Given the description of an element on the screen output the (x, y) to click on. 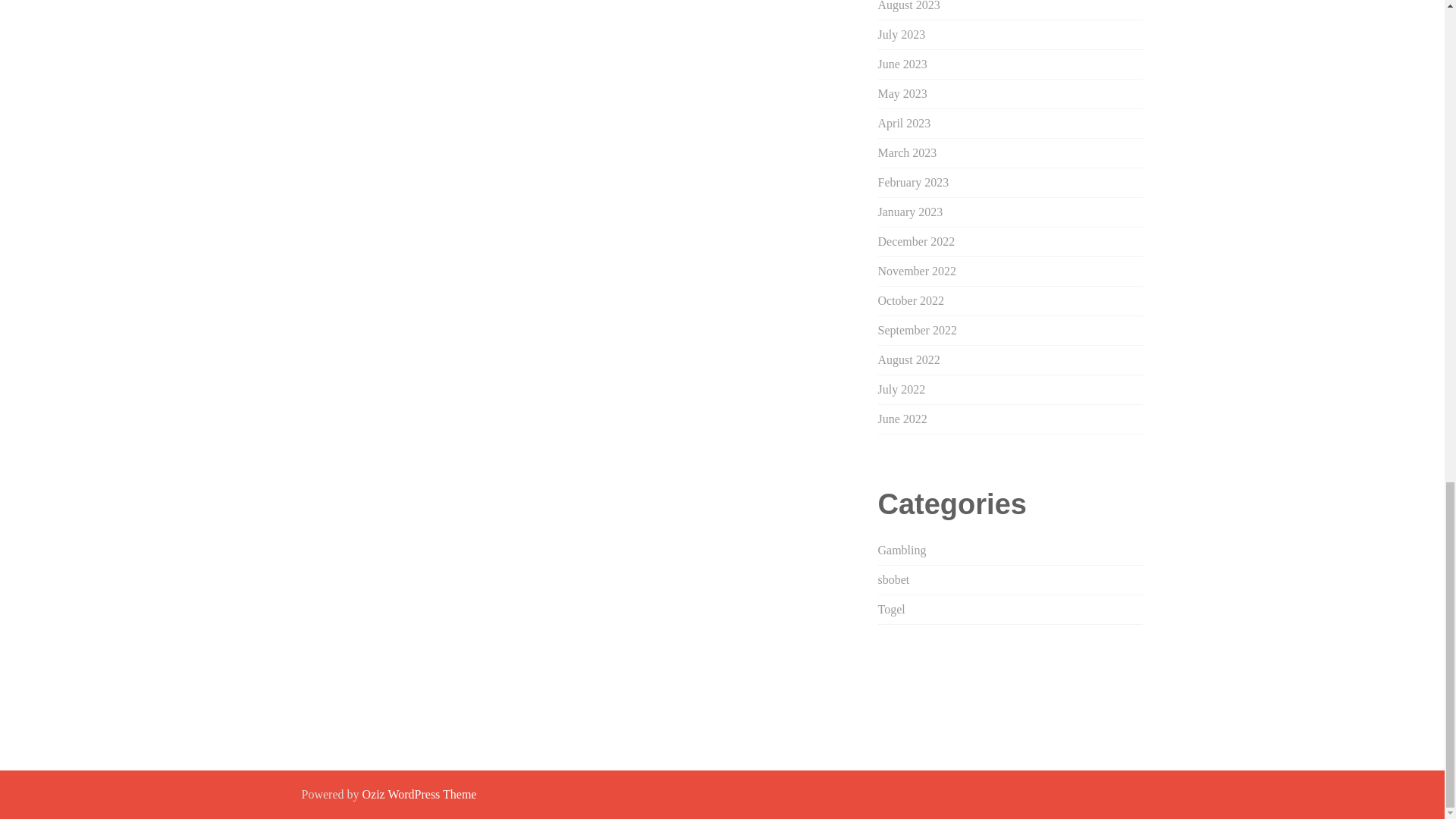
May 2023 (902, 92)
July 2023 (901, 33)
January 2023 (910, 211)
October 2022 (910, 300)
April 2023 (904, 123)
November 2022 (916, 270)
June 2023 (902, 63)
March 2023 (907, 152)
August 2023 (908, 5)
December 2022 (916, 241)
September 2022 (916, 329)
August 2022 (908, 359)
February 2023 (913, 182)
